Given the description of an element on the screen output the (x, y) to click on. 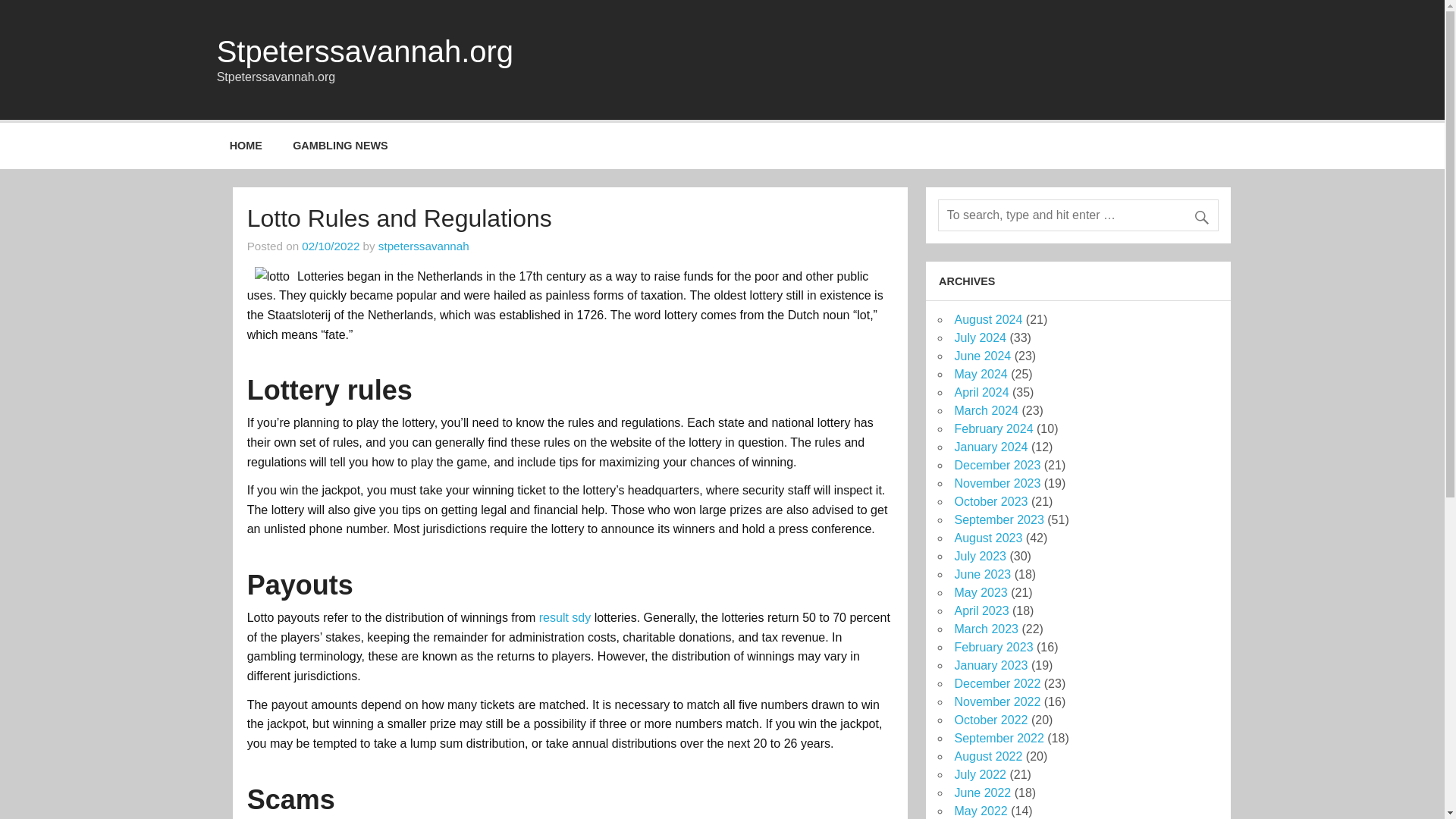
HOME (246, 145)
November 2022 (997, 701)
January 2023 (990, 665)
October 2023 (990, 501)
September 2022 (998, 738)
December 2022 (997, 683)
November 2023 (997, 482)
October 2022 (990, 719)
06:25 (330, 245)
May 2022 (980, 810)
